Given the description of an element on the screen output the (x, y) to click on. 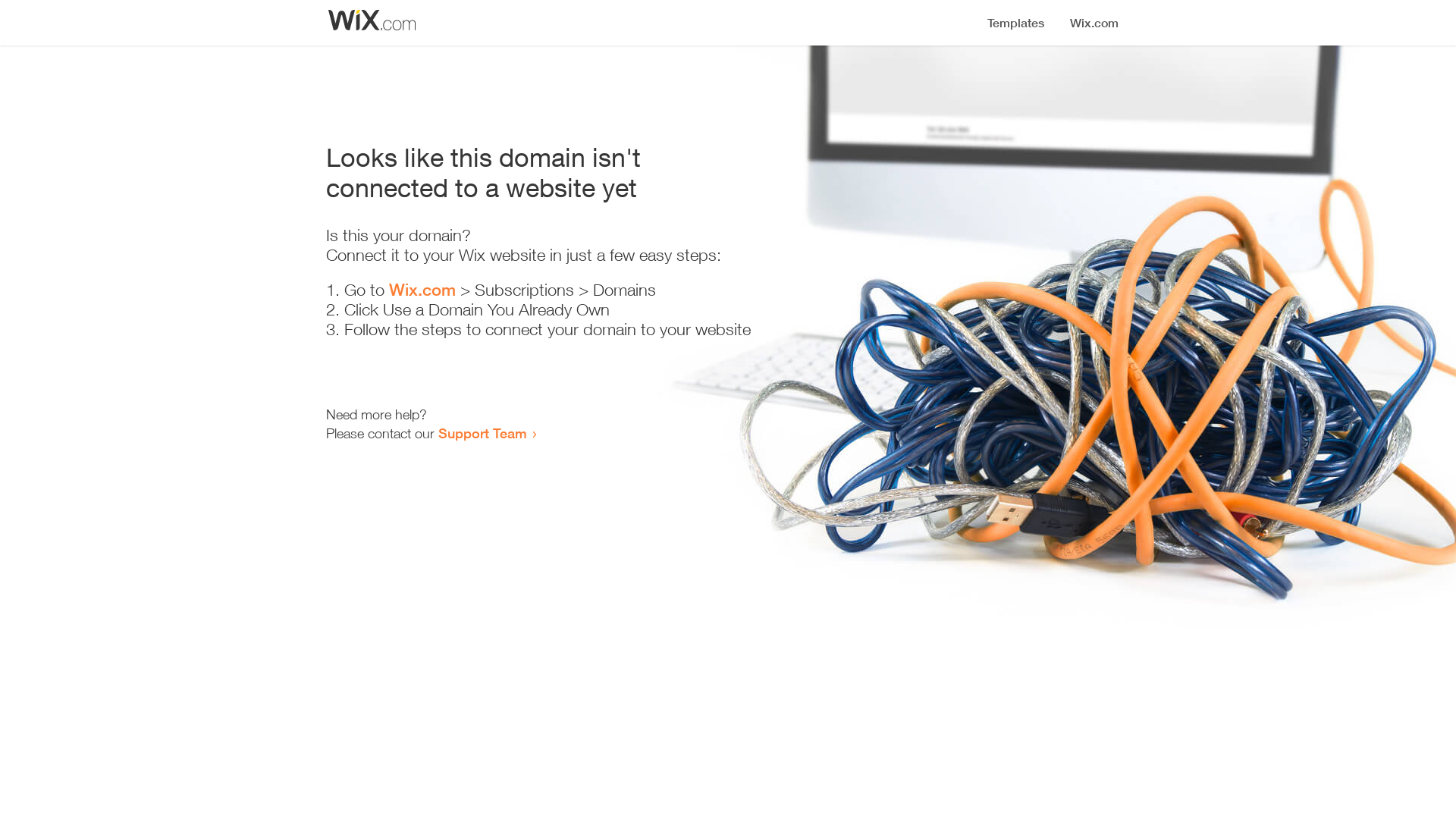
Support Team Element type: text (482, 432)
Wix.com Element type: text (422, 289)
